Given the description of an element on the screen output the (x, y) to click on. 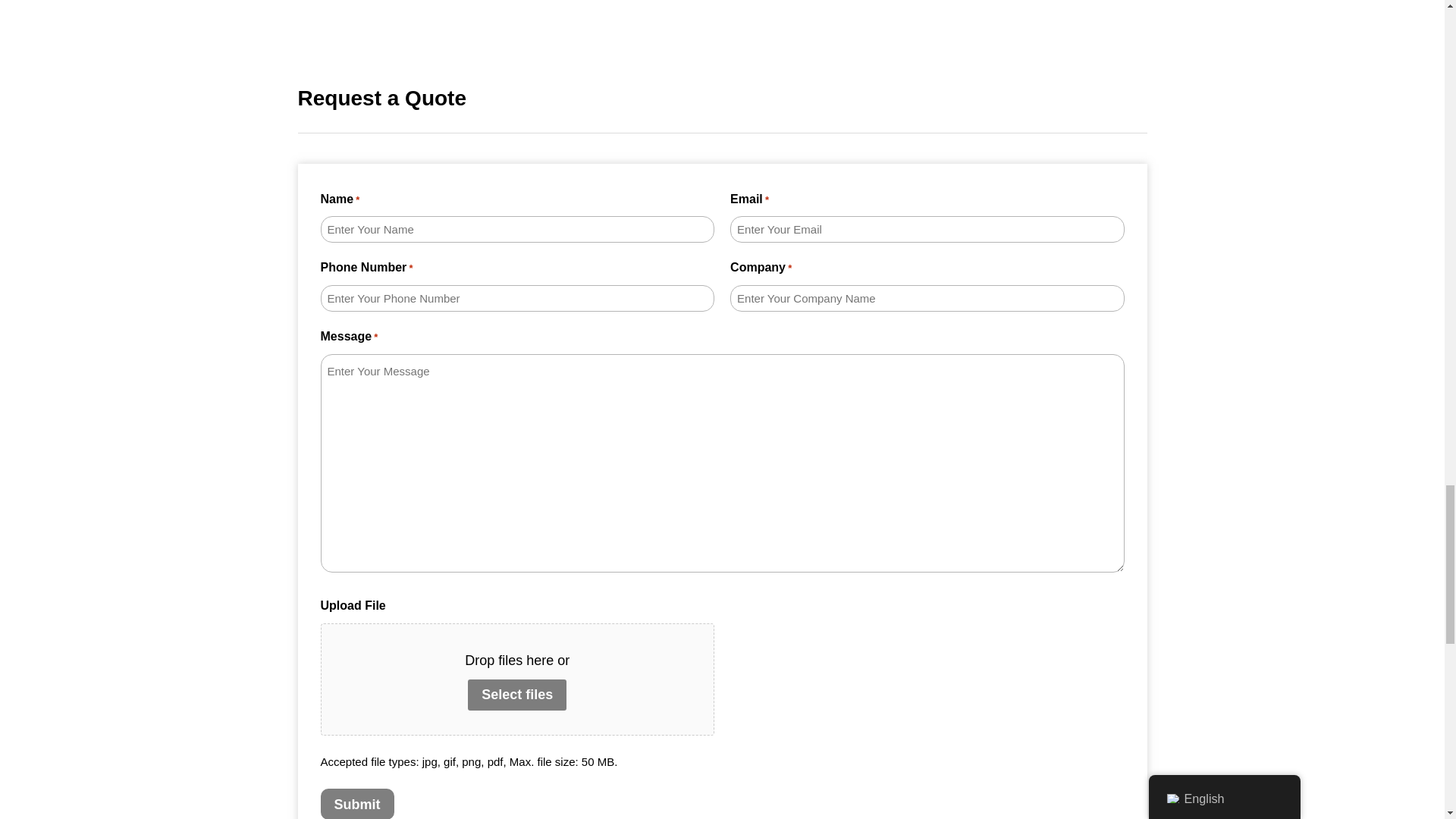
Submit (356, 803)
